Given the description of an element on the screen output the (x, y) to click on. 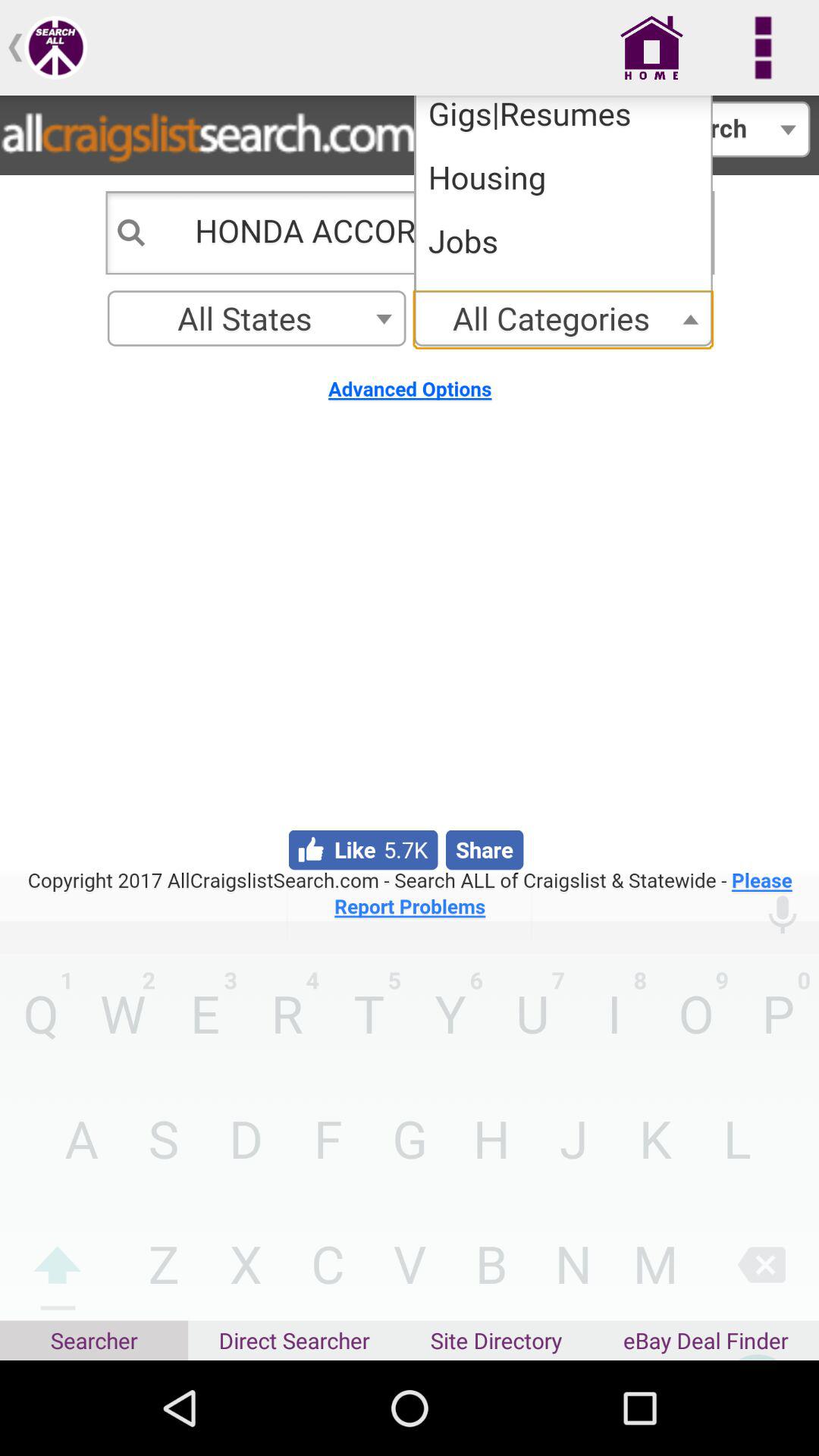
go to advertisement (409, 508)
